Given the description of an element on the screen output the (x, y) to click on. 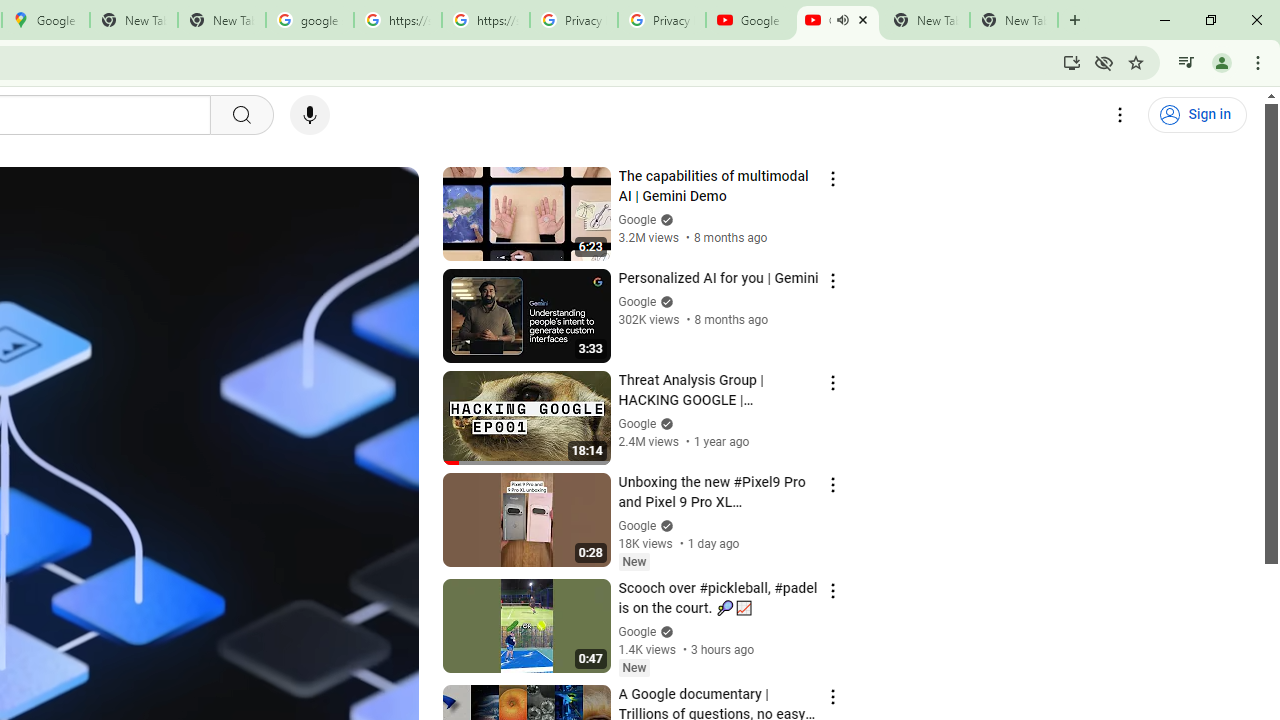
New (634, 667)
Search with your voice (309, 115)
Install YouTube (1071, 62)
Mute tab (842, 20)
Google - YouTube (749, 20)
Action menu (832, 696)
https://scholar.google.com/ (397, 20)
https://scholar.google.com/ (485, 20)
